Given the description of an element on the screen output the (x, y) to click on. 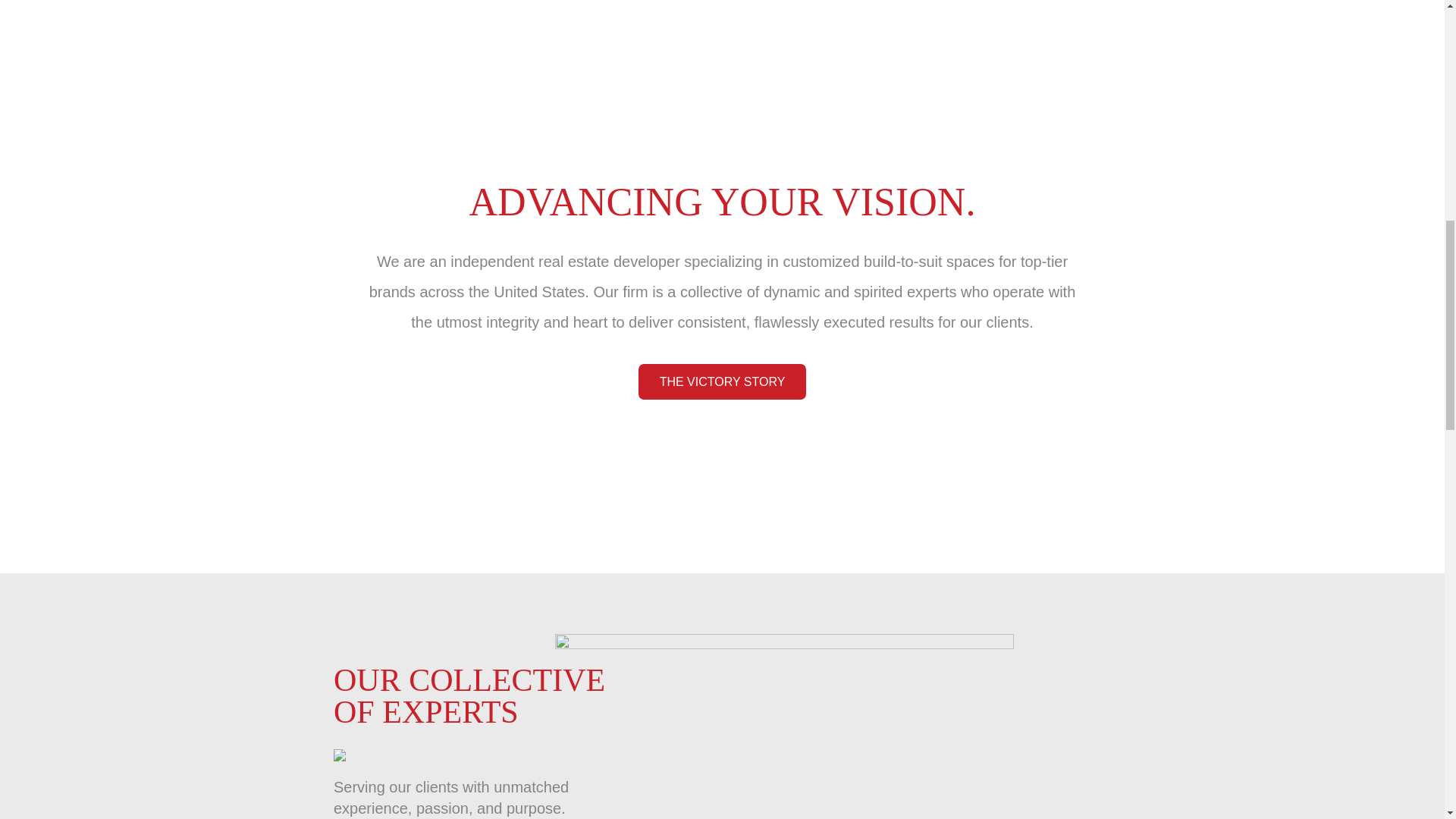
THE VICTORY STORY (722, 381)
